Given the description of an element on the screen output the (x, y) to click on. 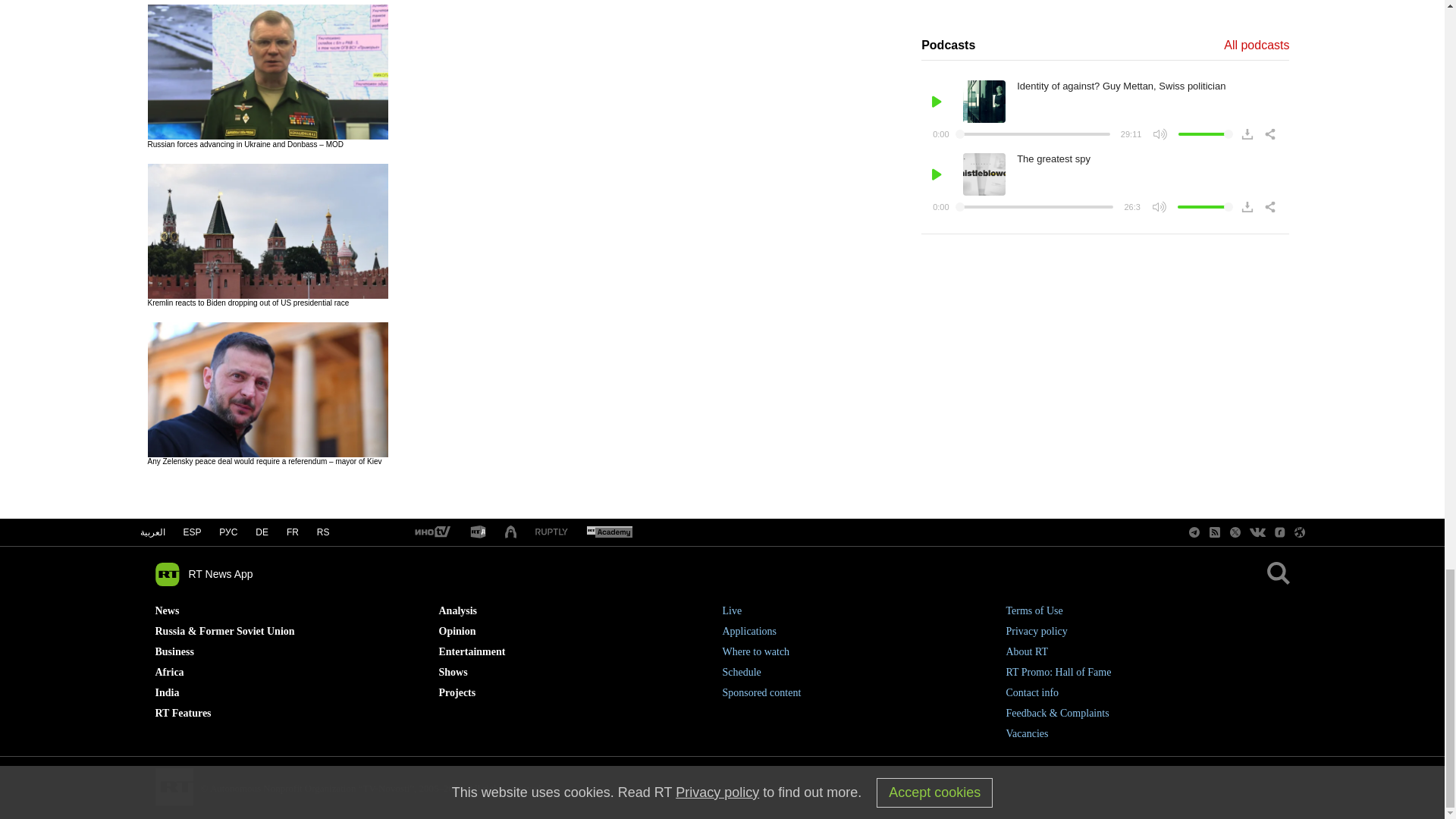
RT  (431, 532)
RT  (551, 532)
RT  (478, 532)
RT  (608, 532)
